Given the description of an element on the screen output the (x, y) to click on. 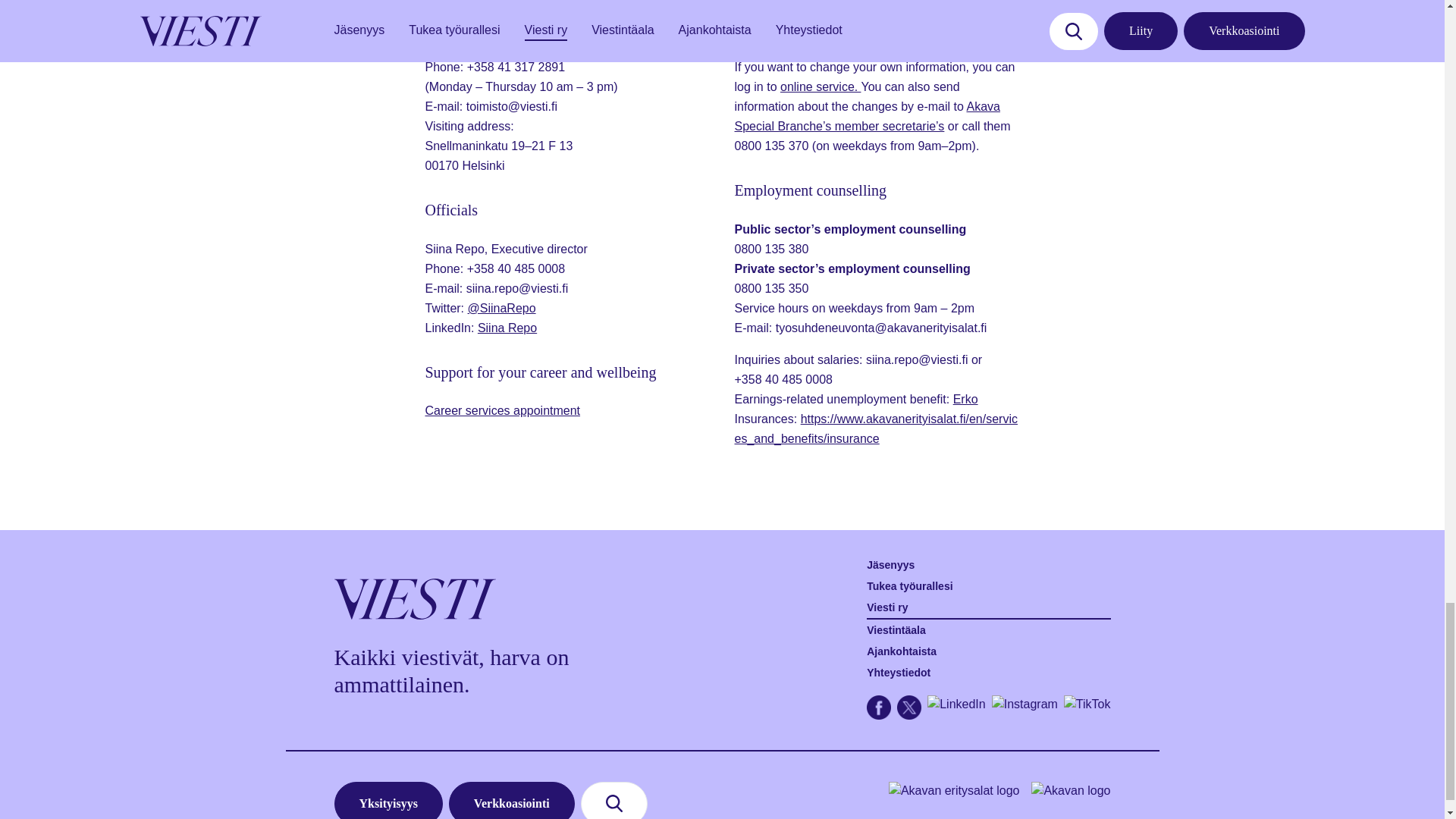
online service.  (820, 86)
Siina Repo (507, 327)
Career services appointment (502, 410)
